Given the description of an element on the screen output the (x, y) to click on. 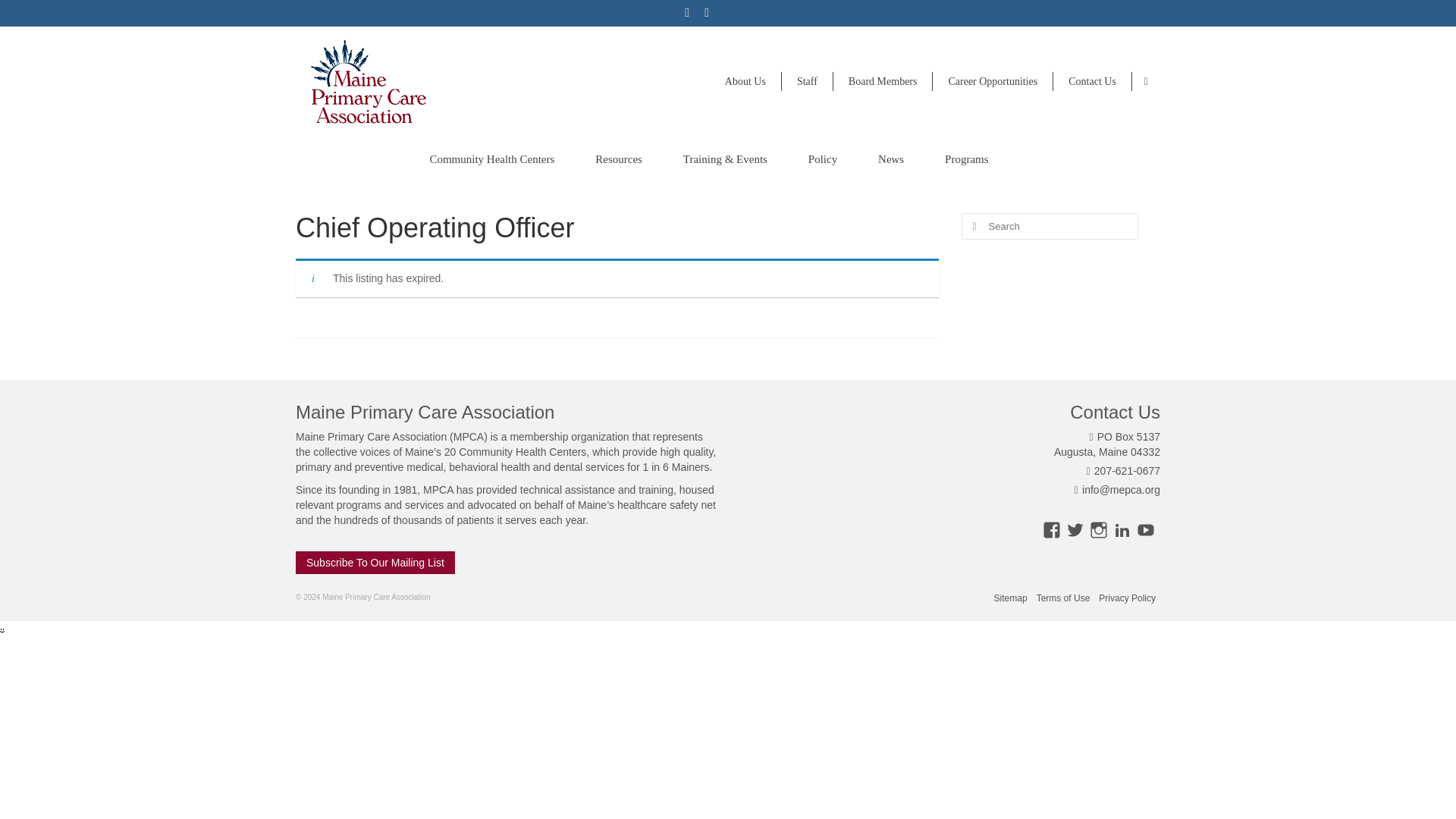
Maine Primary Care Association (434, 84)
About Us (745, 81)
Staff (806, 81)
Contact Us (1092, 81)
Search (1146, 81)
Board Members (882, 81)
Career Opportunities (992, 81)
